Given the description of an element on the screen output the (x, y) to click on. 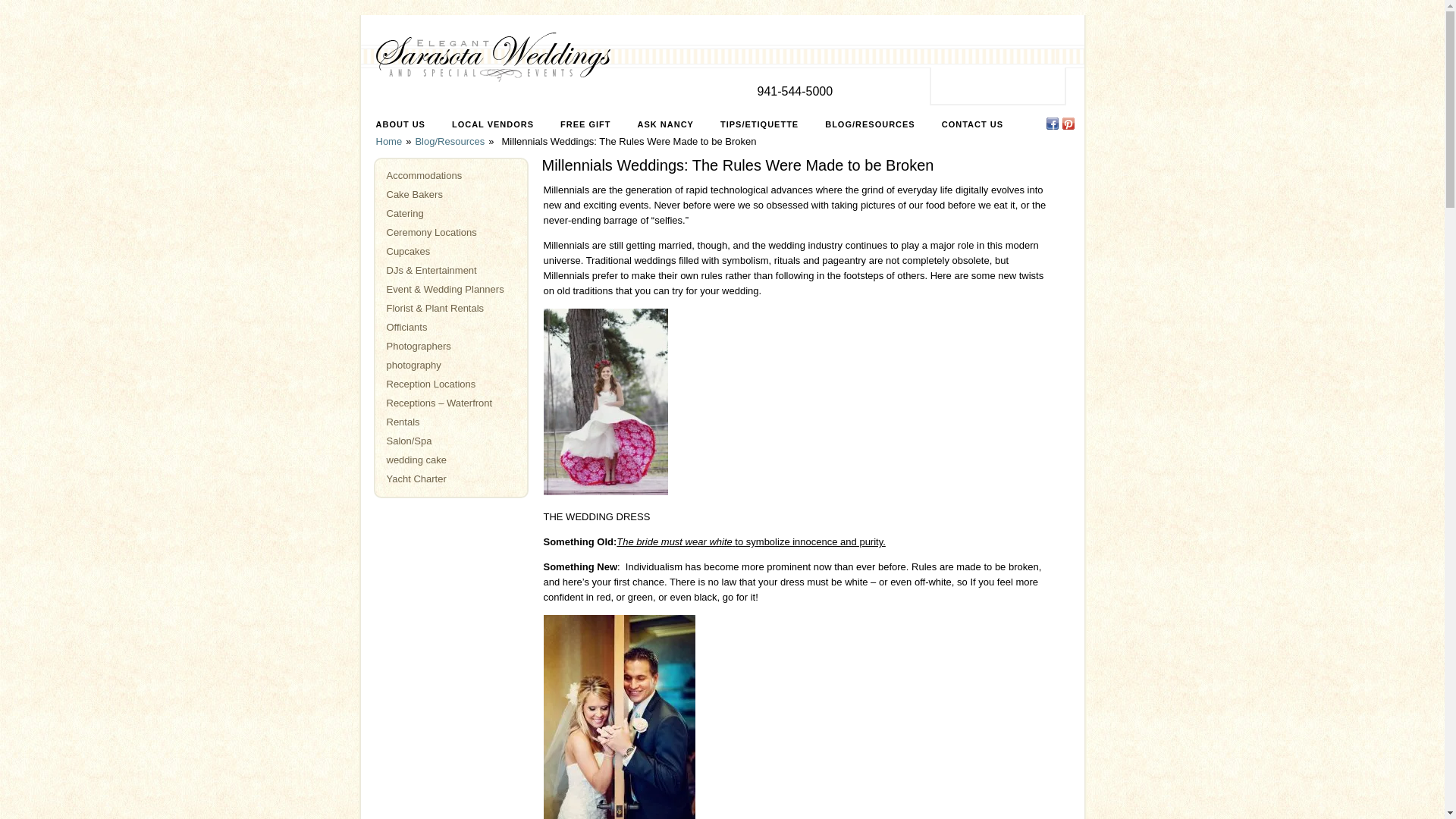
LOCAL VENDORS (492, 124)
Accommodations (425, 174)
ASK NANCY (665, 124)
ABOUT US (400, 124)
Ceremony Locations (432, 232)
wedding cake (416, 460)
Officiants (407, 326)
Home (389, 141)
Go to Elegant Sarasota Weddings. (389, 141)
photography (414, 365)
FREE GIFT (585, 124)
Cake Bakers (414, 194)
Rentals (403, 421)
Yacht Charter (416, 478)
CONTACT US (972, 124)
